Given the description of an element on the screen output the (x, y) to click on. 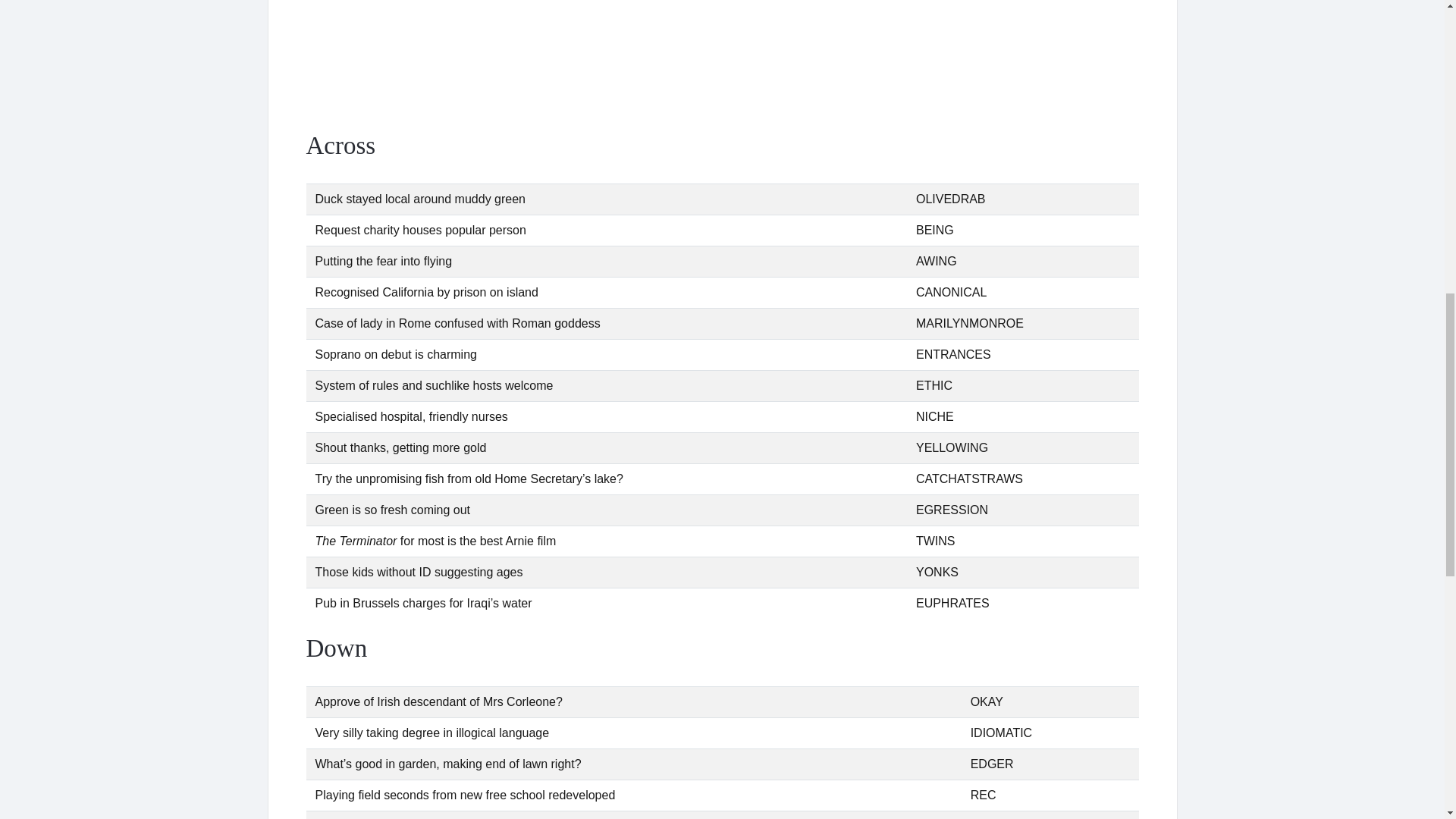
Advertisement (721, 61)
